Given the description of an element on the screen output the (x, y) to click on. 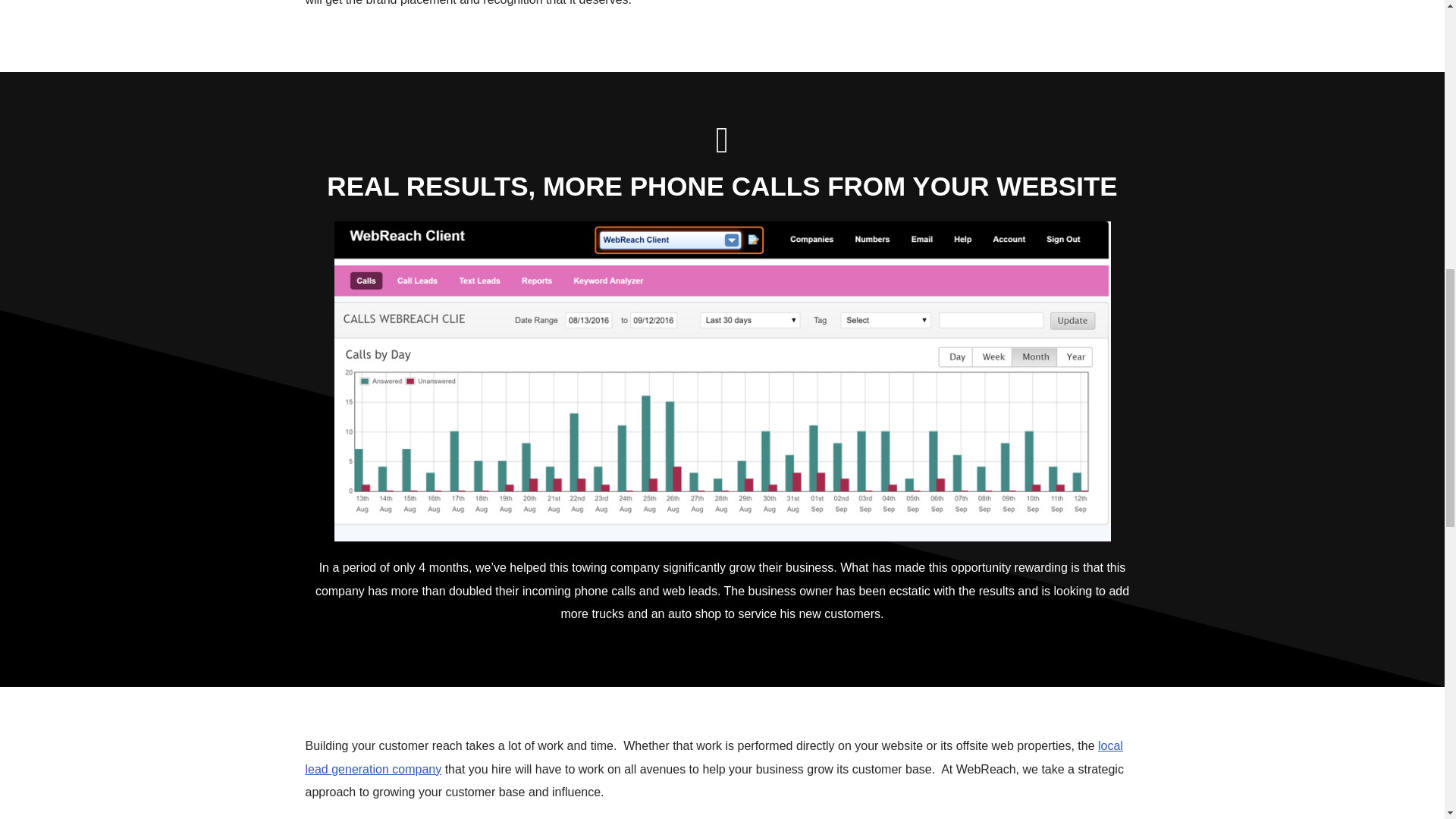
local lead generation company (713, 756)
